Given the description of an element on the screen output the (x, y) to click on. 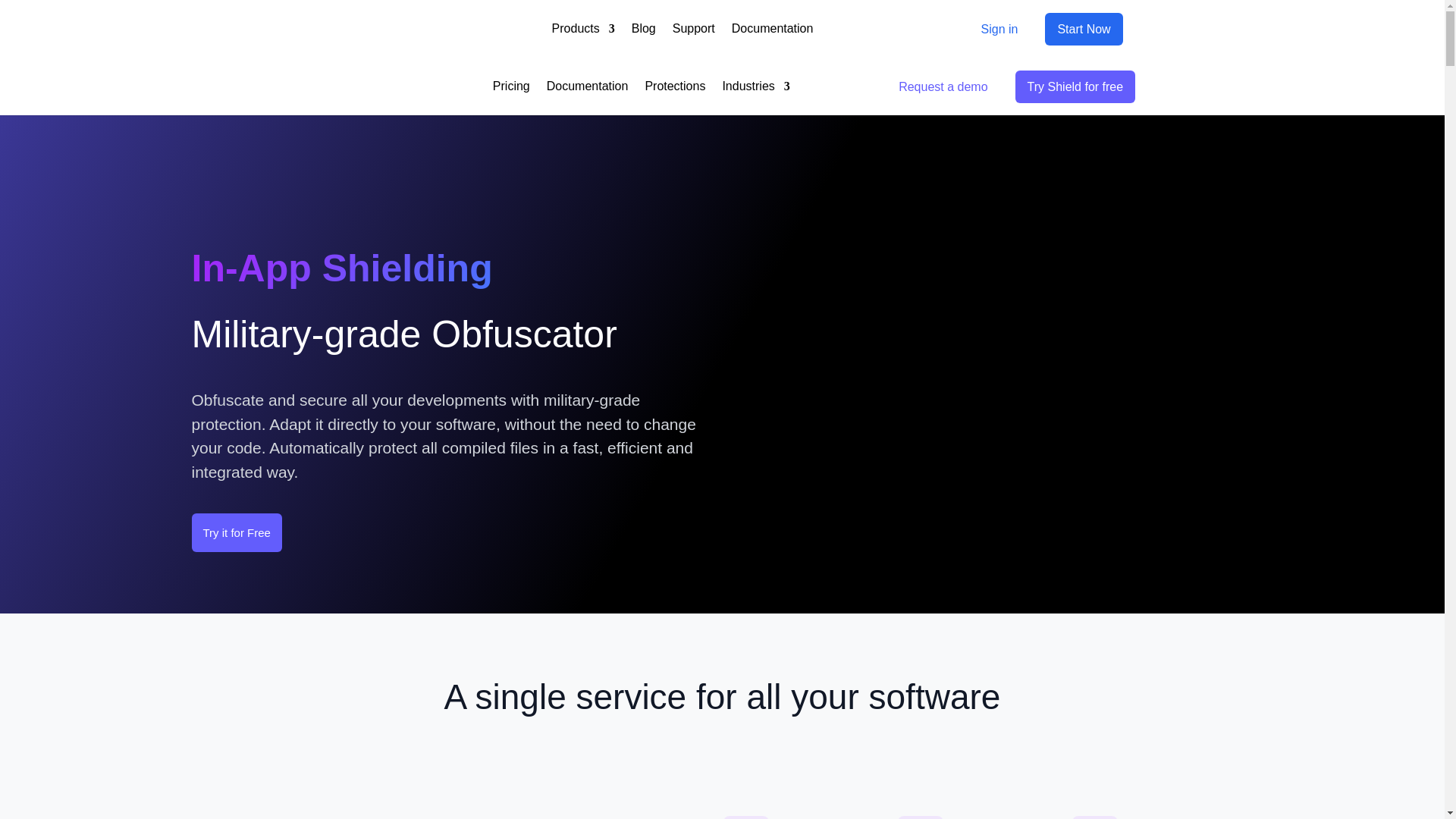
Try it for Free (235, 532)
Try Shield for free (1074, 86)
shield-header (1081, 366)
Documentation (587, 86)
Industries (755, 86)
Sign in (999, 29)
Request a demo (942, 86)
Start Now (1083, 29)
Products (582, 28)
Protections (674, 86)
